Given the description of an element on the screen output the (x, y) to click on. 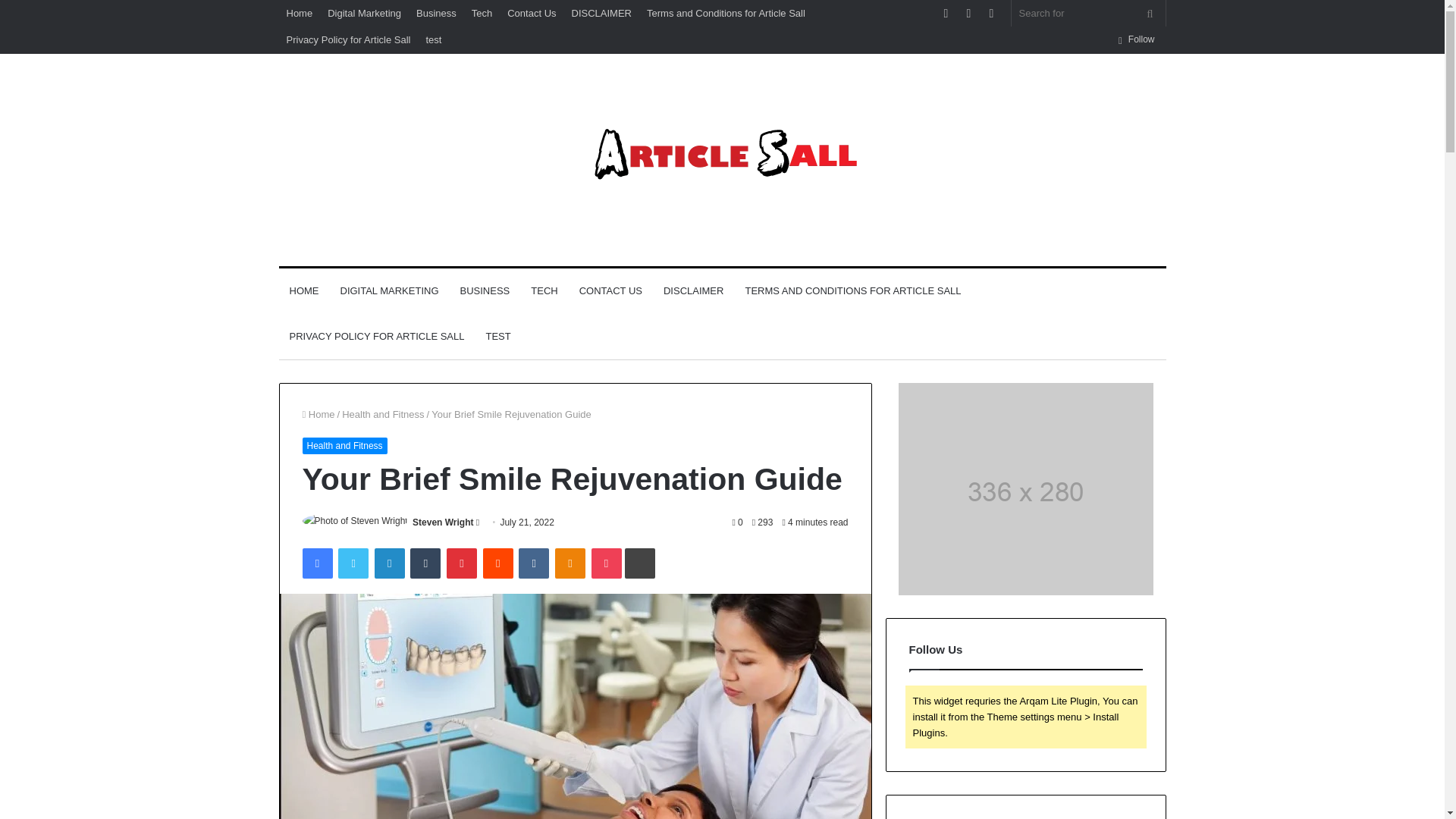
Contact Us (531, 13)
Twitter (352, 562)
LinkedIn (389, 562)
Search for (1088, 13)
Home (317, 414)
Facebook (316, 562)
Facebook (316, 562)
Digital Marketing (364, 13)
Reddit (498, 562)
TEST (497, 336)
Steven Wright (442, 521)
Pinterest (461, 562)
Business (436, 13)
HOME (304, 290)
DIGITAL MARKETING (388, 290)
